Given the description of an element on the screen output the (x, y) to click on. 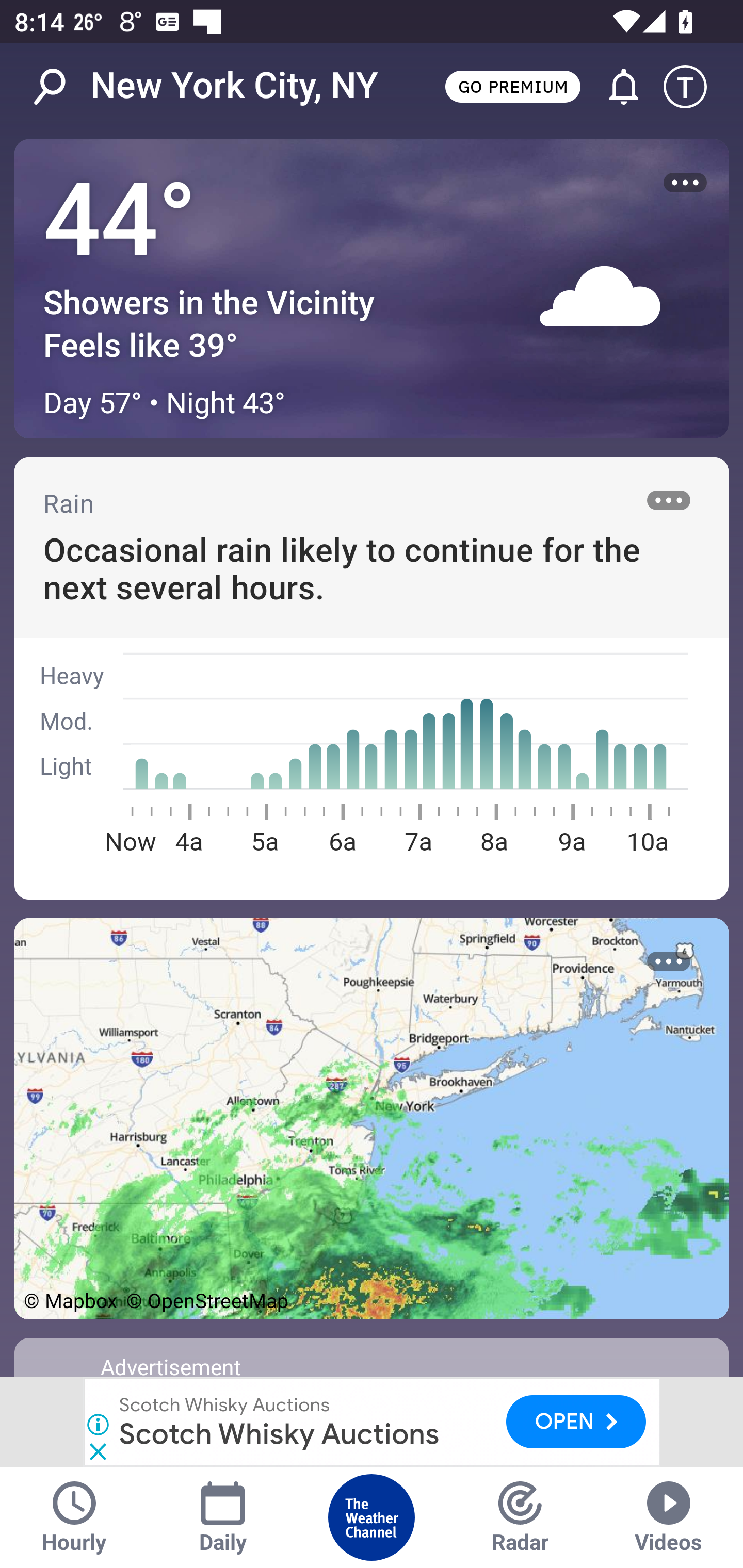
Search (59, 86)
Go to Alerts and Notifications (614, 86)
Setting icon T (694, 86)
New York City, NY (234, 85)
GO PREMIUM (512, 85)
More options (684, 182)
More options (668, 500)
See Map Details (371, 1118)
More options (668, 961)
Scotch Whisky Auctions (225, 1403)
OPEN (576, 1420)
Scotch Whisky Auctions (278, 1432)
Hourly Tab Hourly (74, 1517)
Daily Tab Daily (222, 1517)
Radar Tab Radar (519, 1517)
Videos Tab Videos (668, 1517)
